Given the description of an element on the screen output the (x, y) to click on. 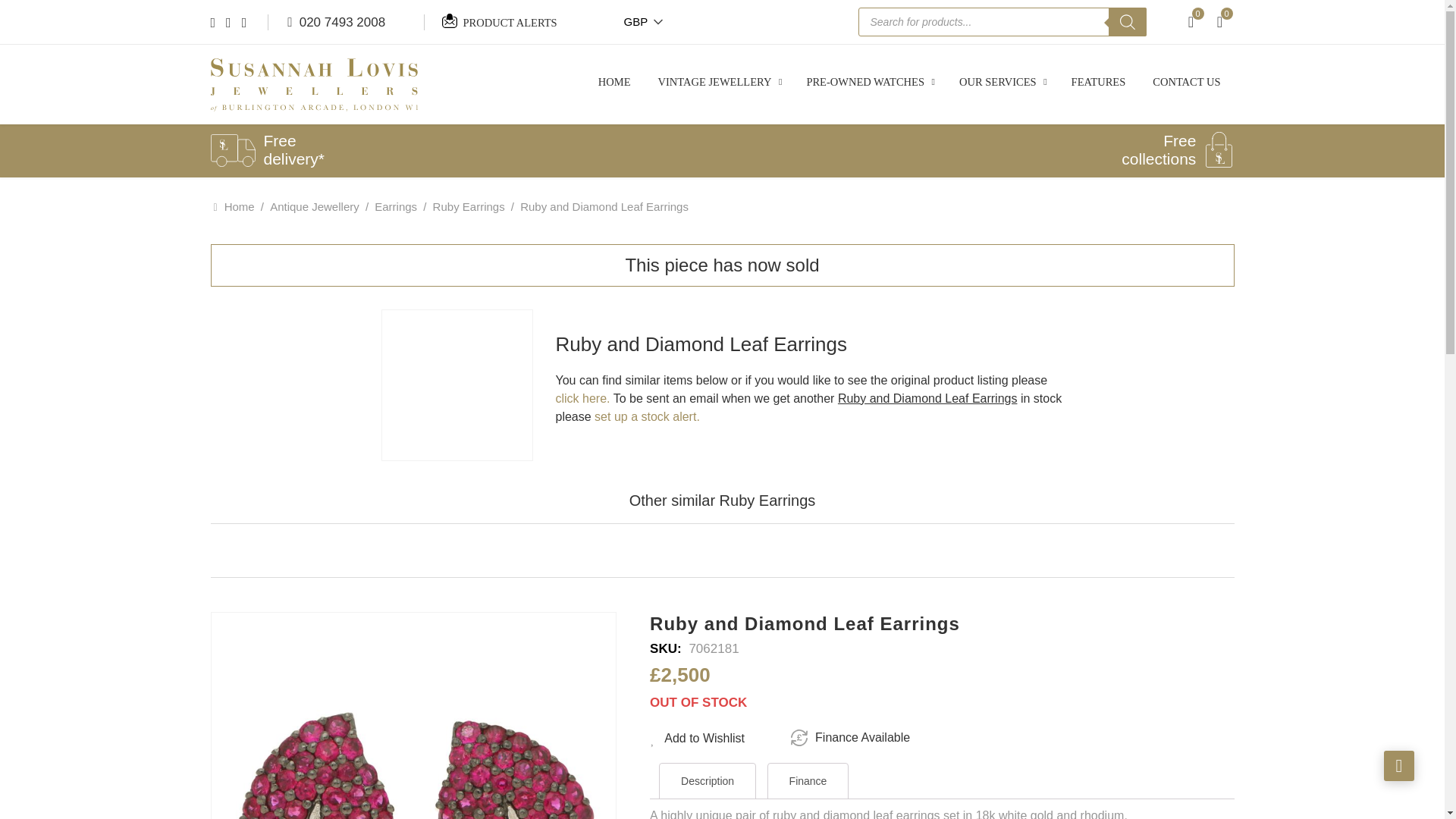
Ruby and Diamond Leaf Earrings (413, 715)
Ruby and Diamond Leaf Earrings (456, 385)
VINTAGE JEWELLERY (719, 81)
 020 7493 2008 (335, 22)
